Given the description of an element on the screen output the (x, y) to click on. 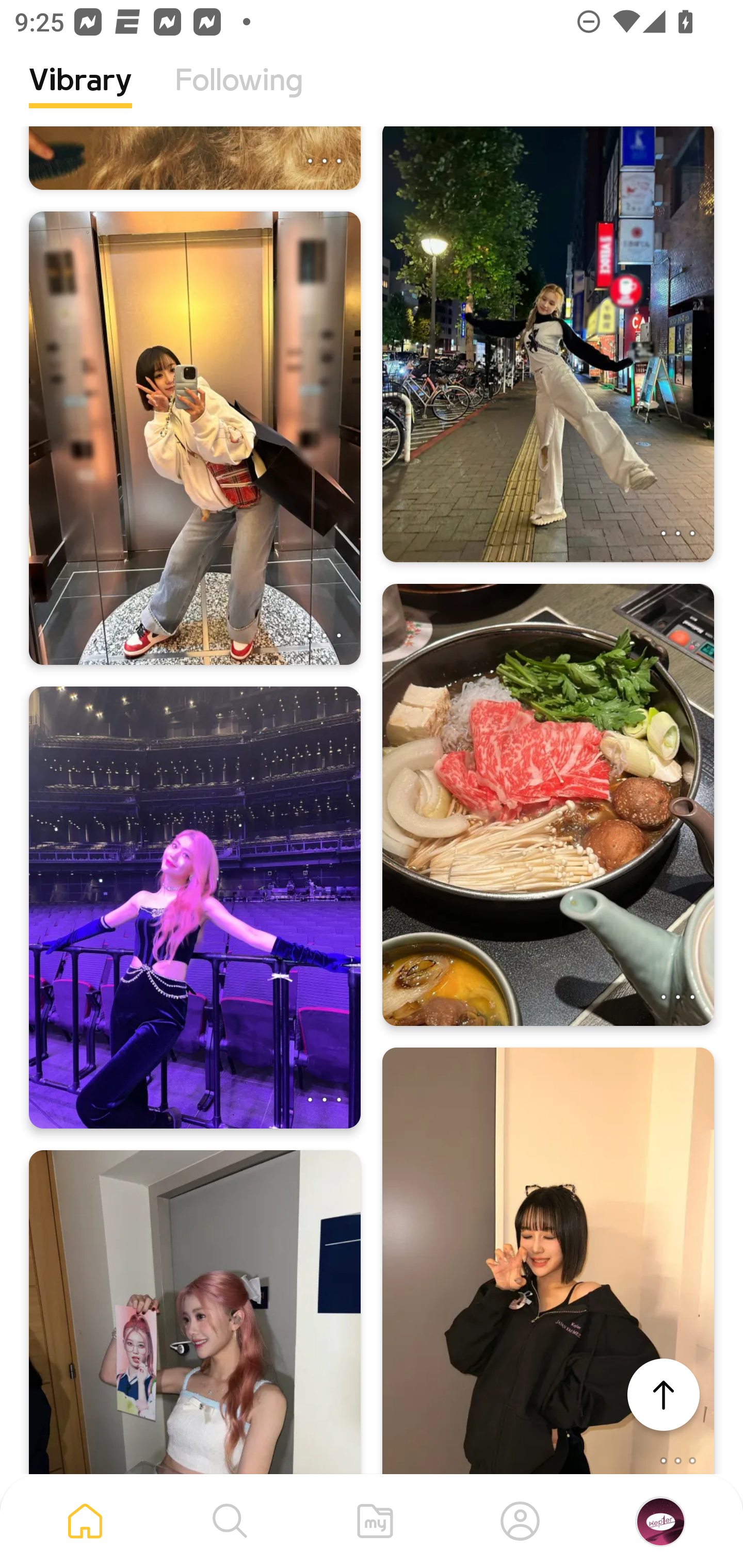
Vibrary (80, 95)
Following (239, 95)
